Given the description of an element on the screen output the (x, y) to click on. 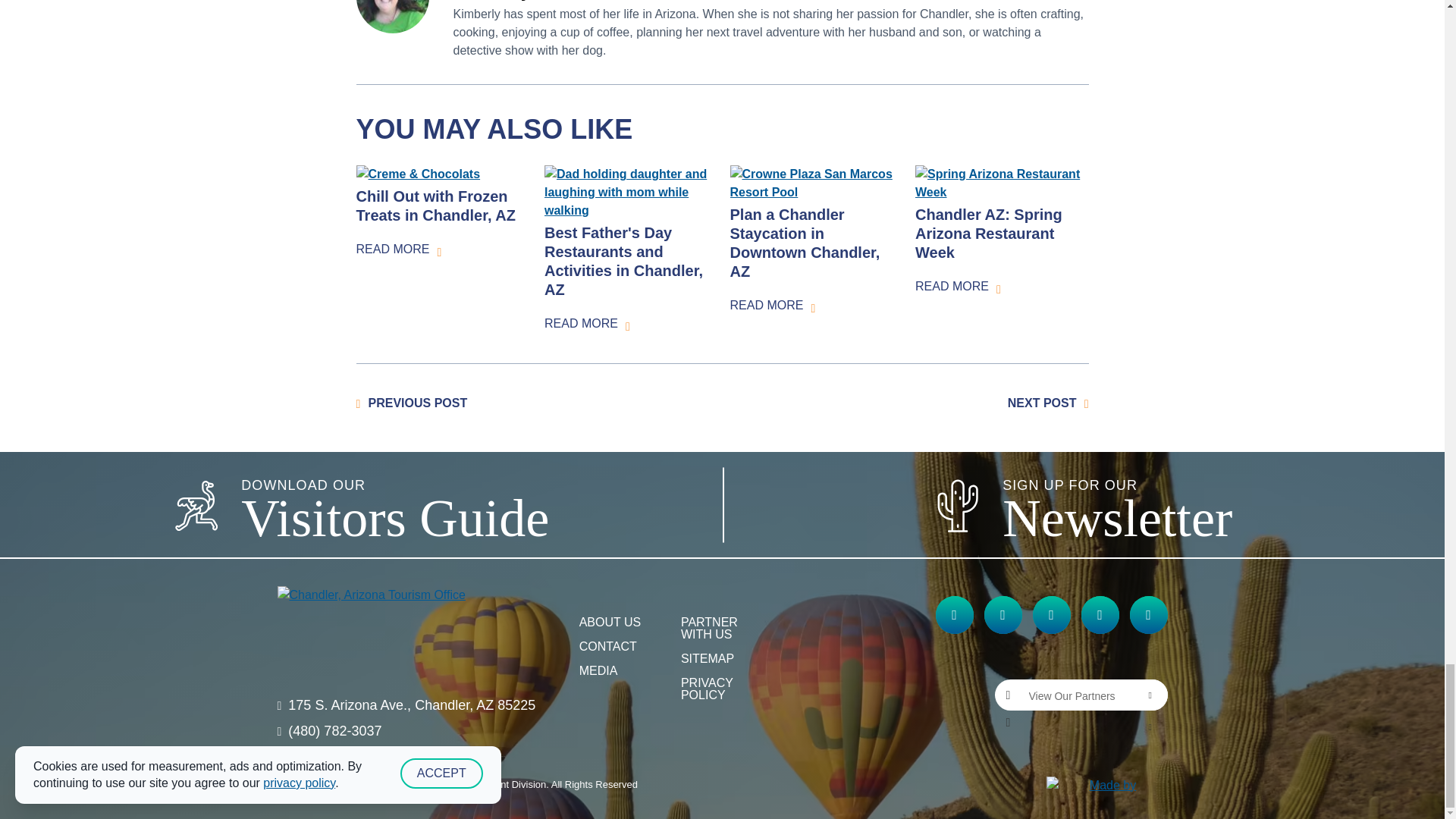
Visit our twitter page (1051, 614)
Visit our pinterest page (1148, 614)
Visit our youtube page (1100, 614)
Chandler Food Festivals (1042, 402)
Visit our instagram page (1003, 614)
Celebrate National Pasta Day in Chandler, AZ! (417, 402)
Visit our facebook page (955, 614)
About Us (610, 621)
